Given the description of an element on the screen output the (x, y) to click on. 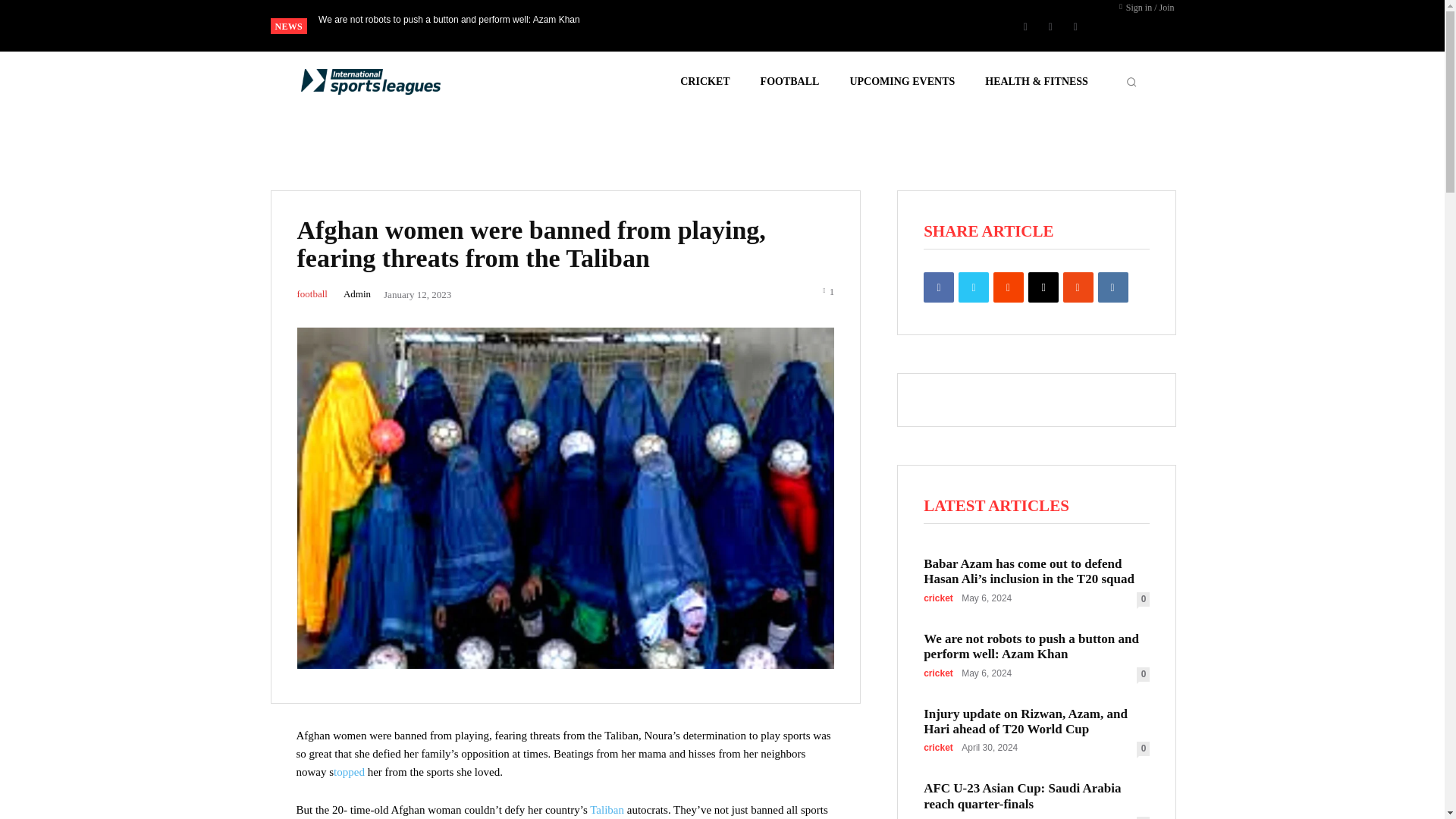
1 (828, 289)
topped (349, 771)
Twitter (1075, 25)
Admin (357, 293)
FOOTBALL (789, 81)
Facebook (1024, 25)
UPCOMING EVENTS (901, 81)
Taliban (608, 809)
Instagram (1050, 25)
football (312, 293)
